Given the description of an element on the screen output the (x, y) to click on. 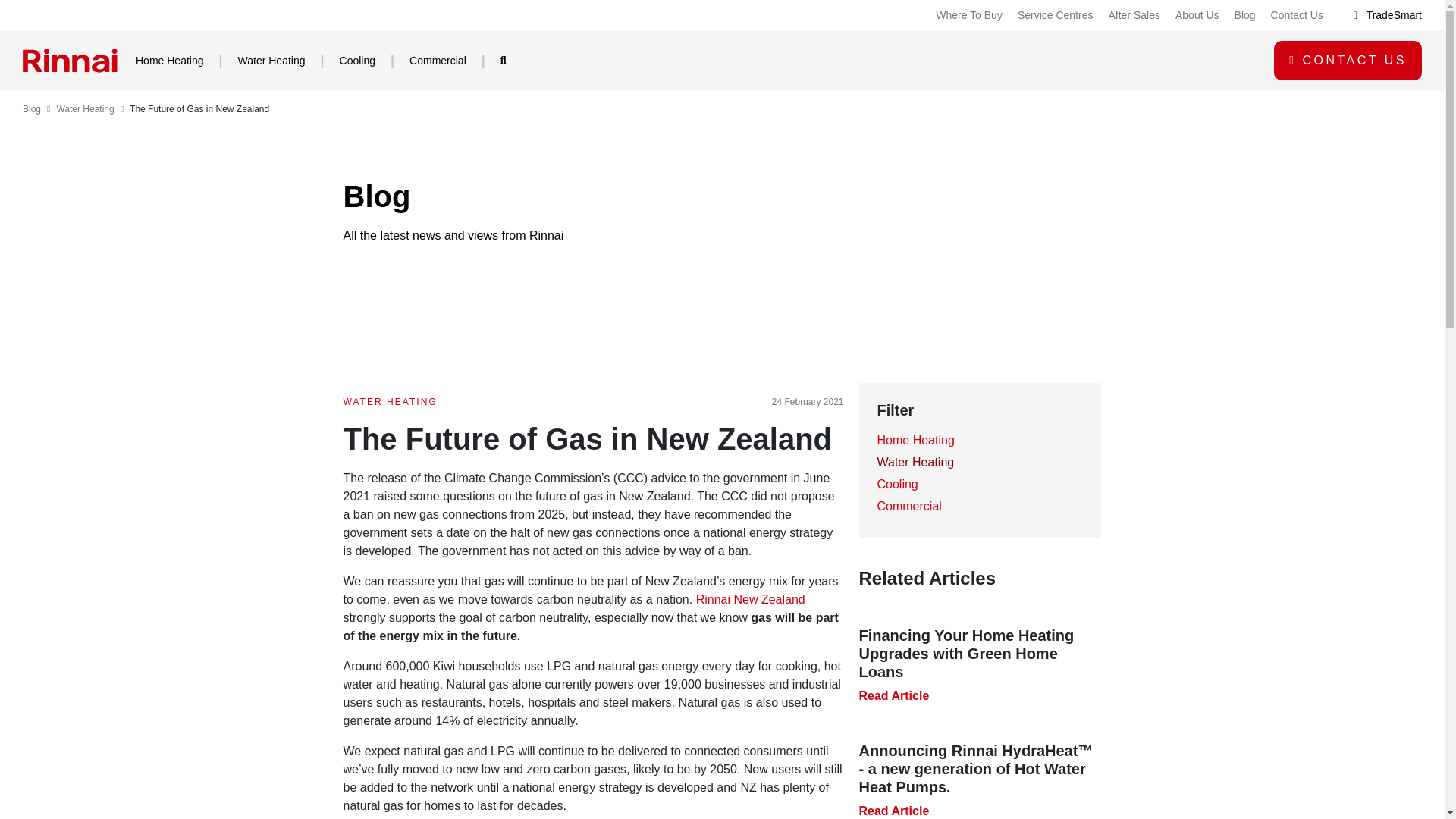
Contact Us (1297, 15)
Water Heating (288, 59)
Contact Us (1351, 60)
Service Centres (1055, 15)
About Us (1197, 15)
Blog (1244, 15)
After Sales (1133, 15)
TradeSmart (1388, 15)
Home Heating (186, 59)
Where To Buy (969, 15)
